Given the description of an element on the screen output the (x, y) to click on. 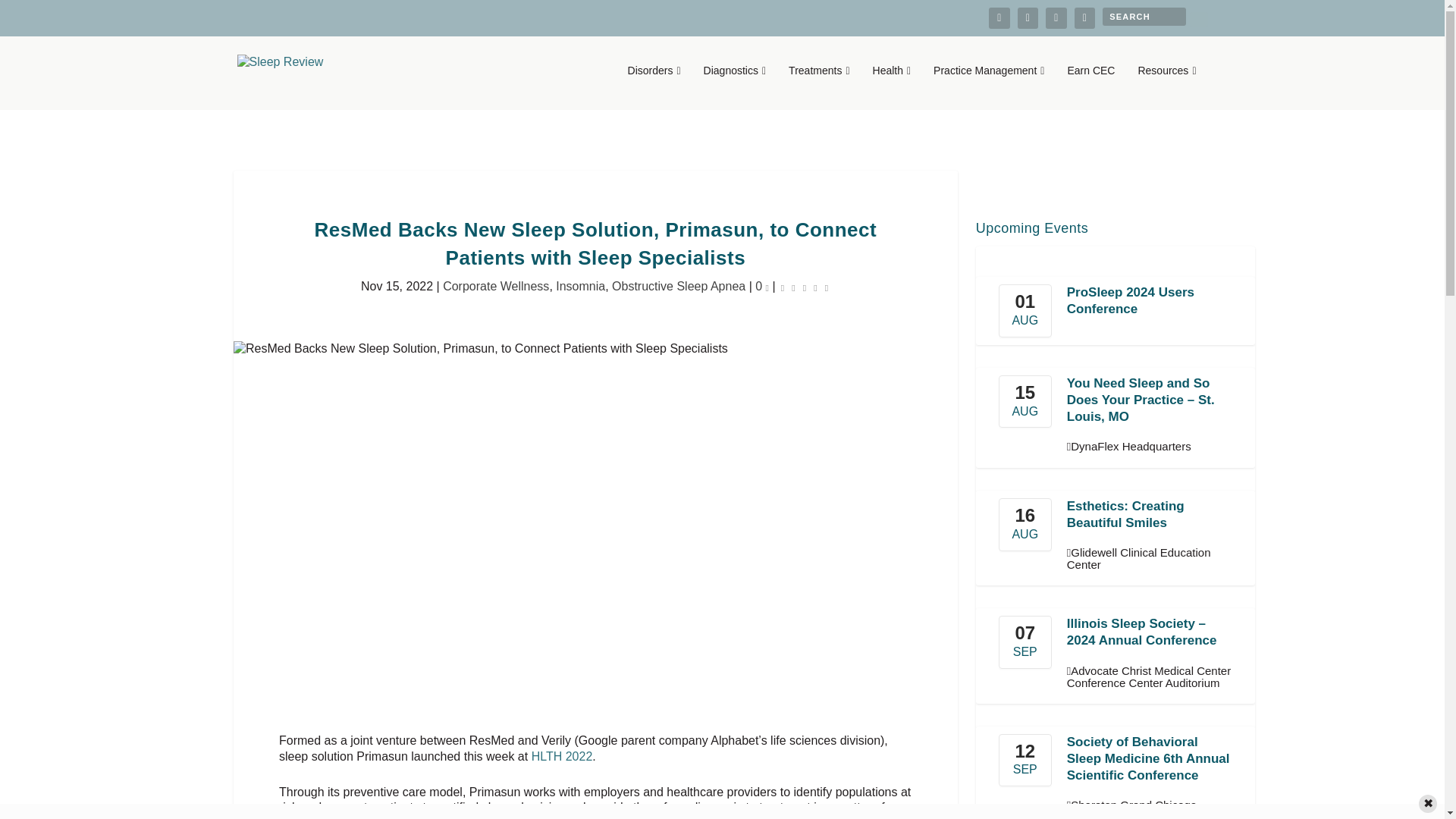
Diagnostics (735, 86)
Health (891, 86)
Practice Management (988, 86)
Resources (1166, 86)
comment count (766, 288)
Treatments (818, 86)
Search for: (1144, 16)
Rating: 0.00 (803, 287)
Disorders (654, 86)
Earn CEC (1091, 86)
